Given the description of an element on the screen output the (x, y) to click on. 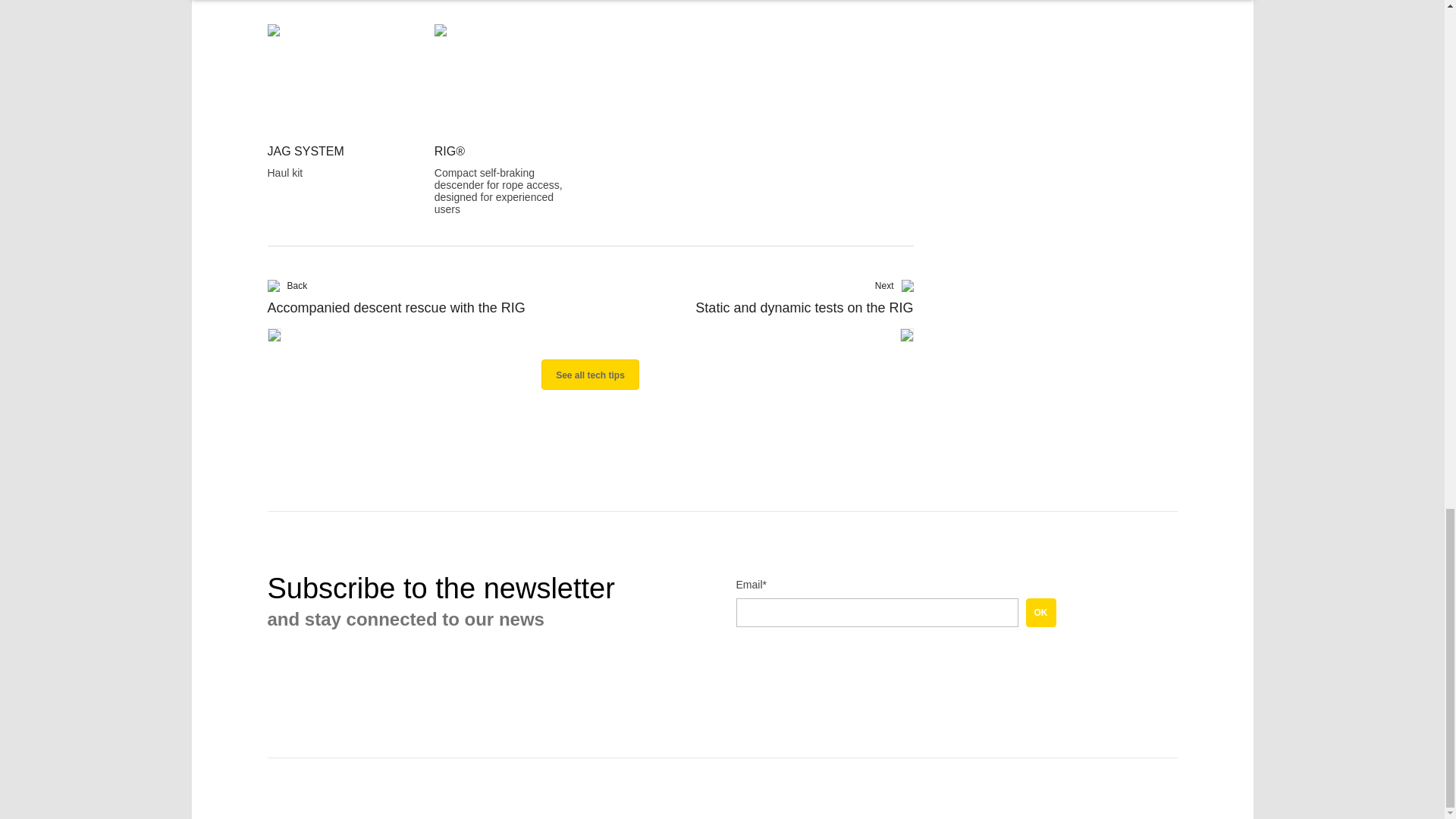
JAG SYSTEM (339, 66)
